Given the description of an element on the screen output the (x, y) to click on. 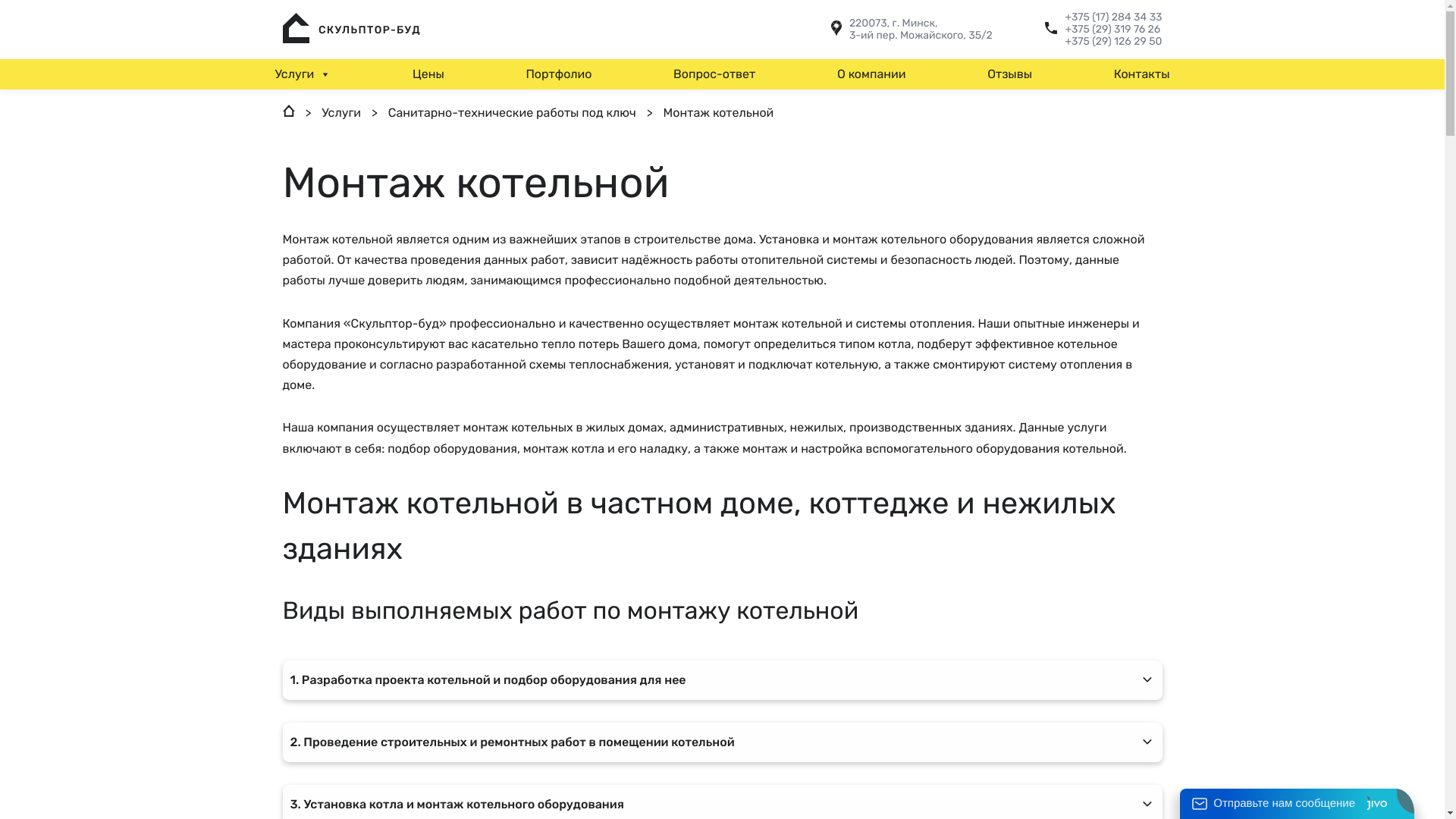
+375 (29) 319 76 26 Element type: text (1112, 29)
+375 (17) 284 34 33 Element type: text (1112, 17)
+375 (29) 126 29 50 Element type: text (1112, 41)
